Given the description of an element on the screen output the (x, y) to click on. 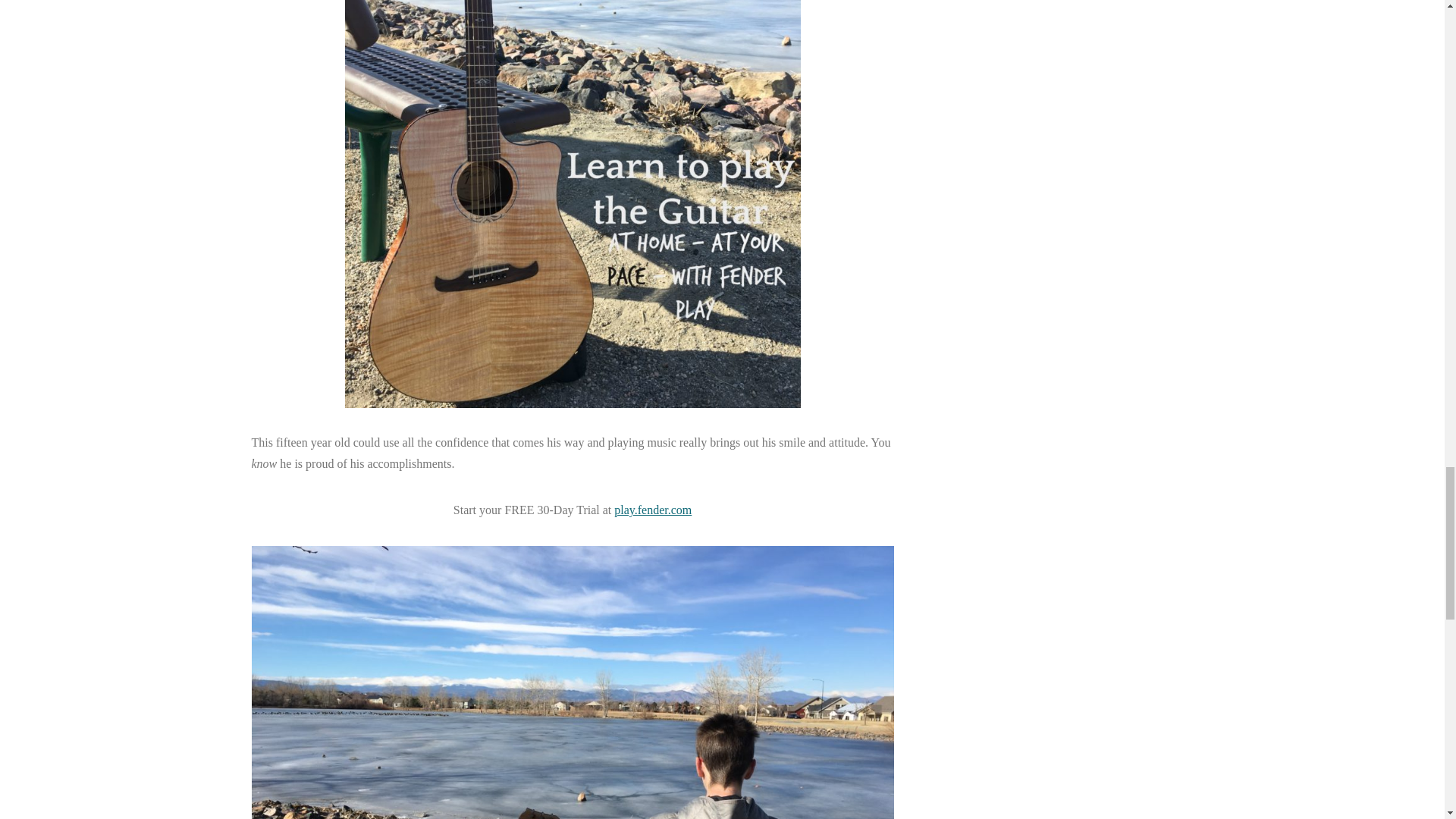
play.fender.com (652, 509)
